Given the description of an element on the screen output the (x, y) to click on. 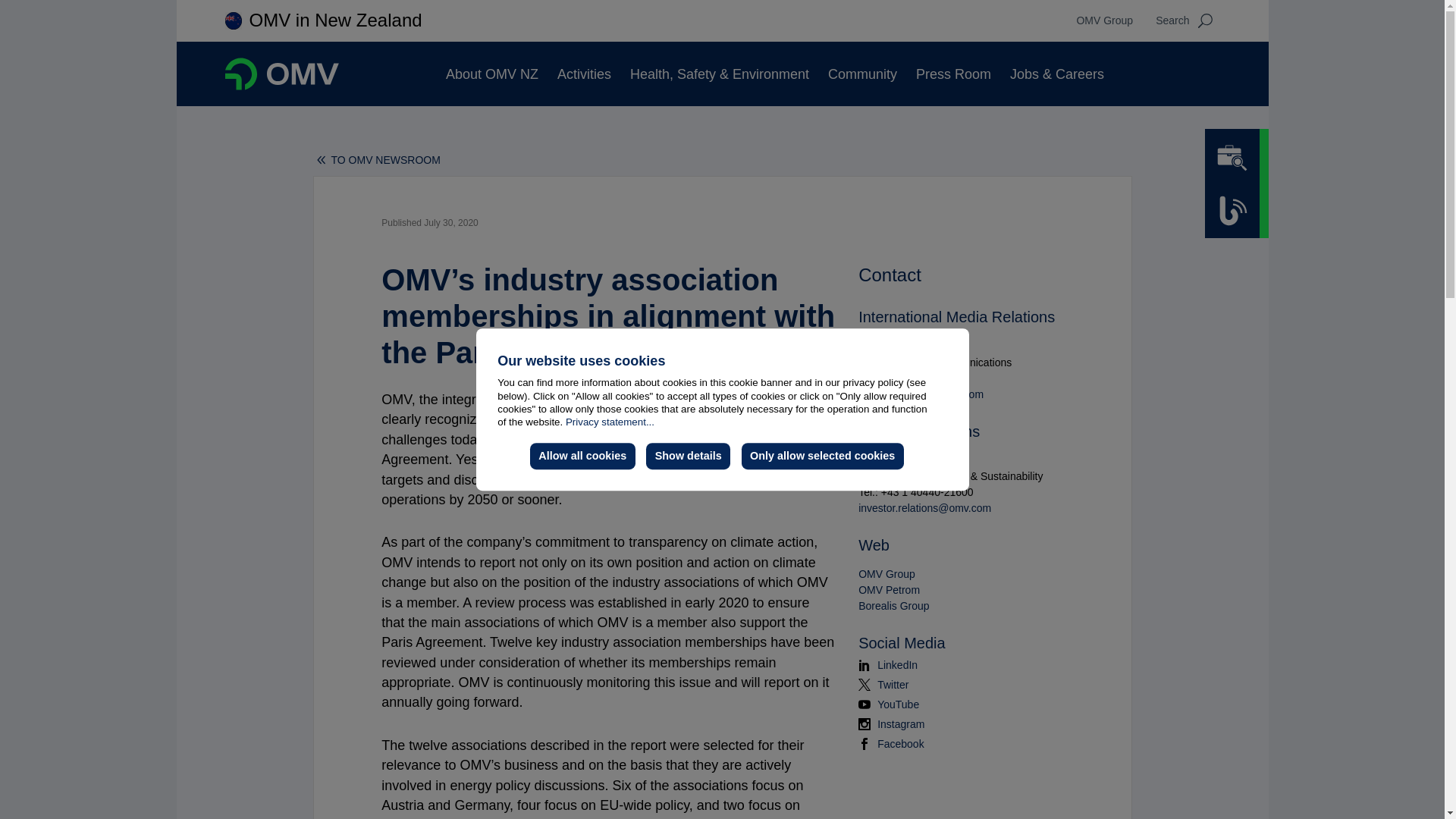
OMV in New Zealand (335, 20)
Allow all cookies (581, 456)
Privacy statement... (609, 421)
Activities (584, 74)
Only allow selected cookies (822, 456)
About OMV NZ (491, 74)
Privacy statement... (609, 421)
Show details (688, 456)
